Given the description of an element on the screen output the (x, y) to click on. 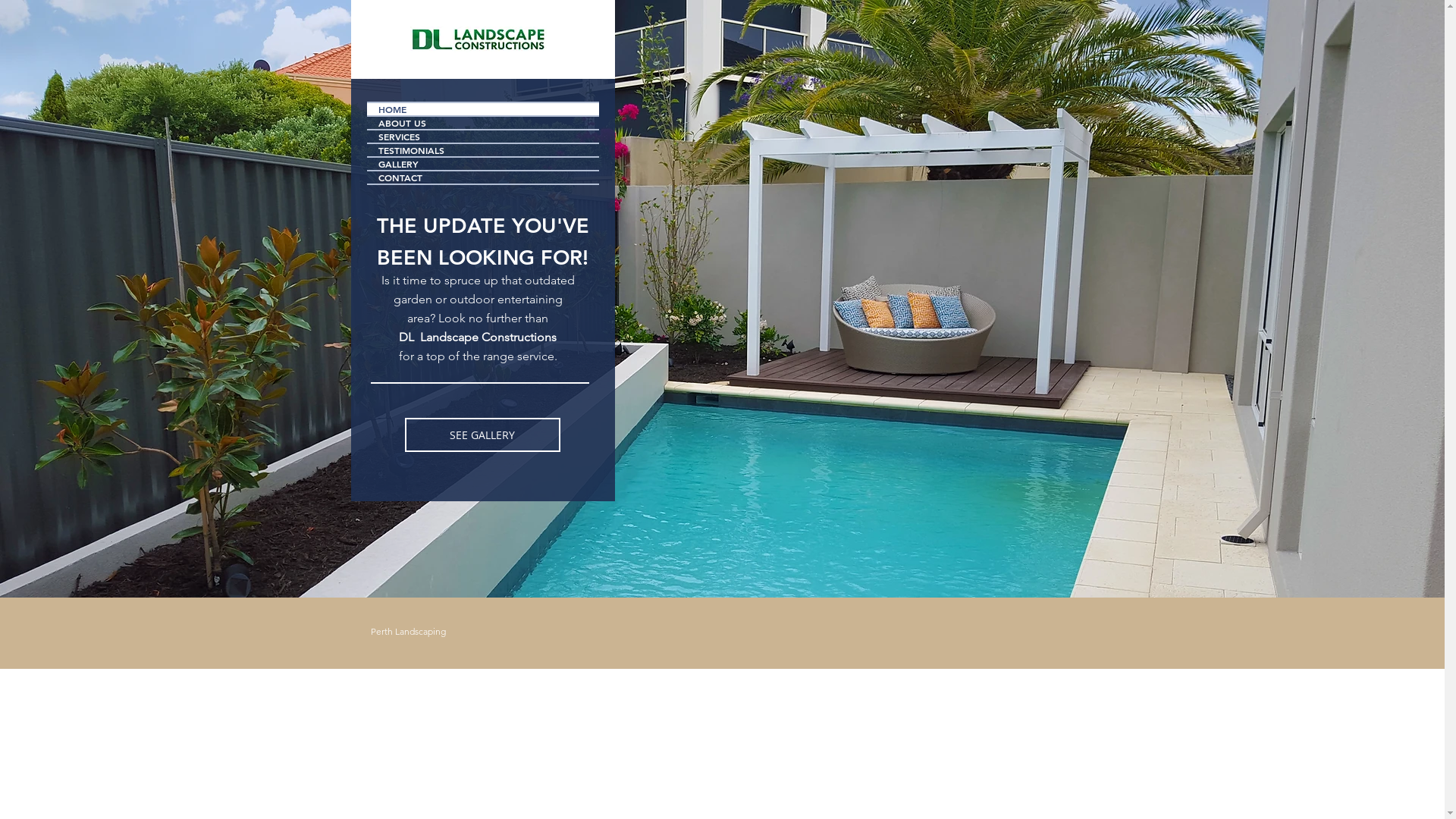
ABOUT US Element type: text (483, 122)
CONTACT Element type: text (483, 177)
SERVICES Element type: text (483, 136)
HOME Element type: text (483, 109)
GALLERY Element type: text (483, 163)
SEE GALLERY Element type: text (482, 434)
TESTIMONIALS Element type: text (483, 150)
